Given the description of an element on the screen output the (x, y) to click on. 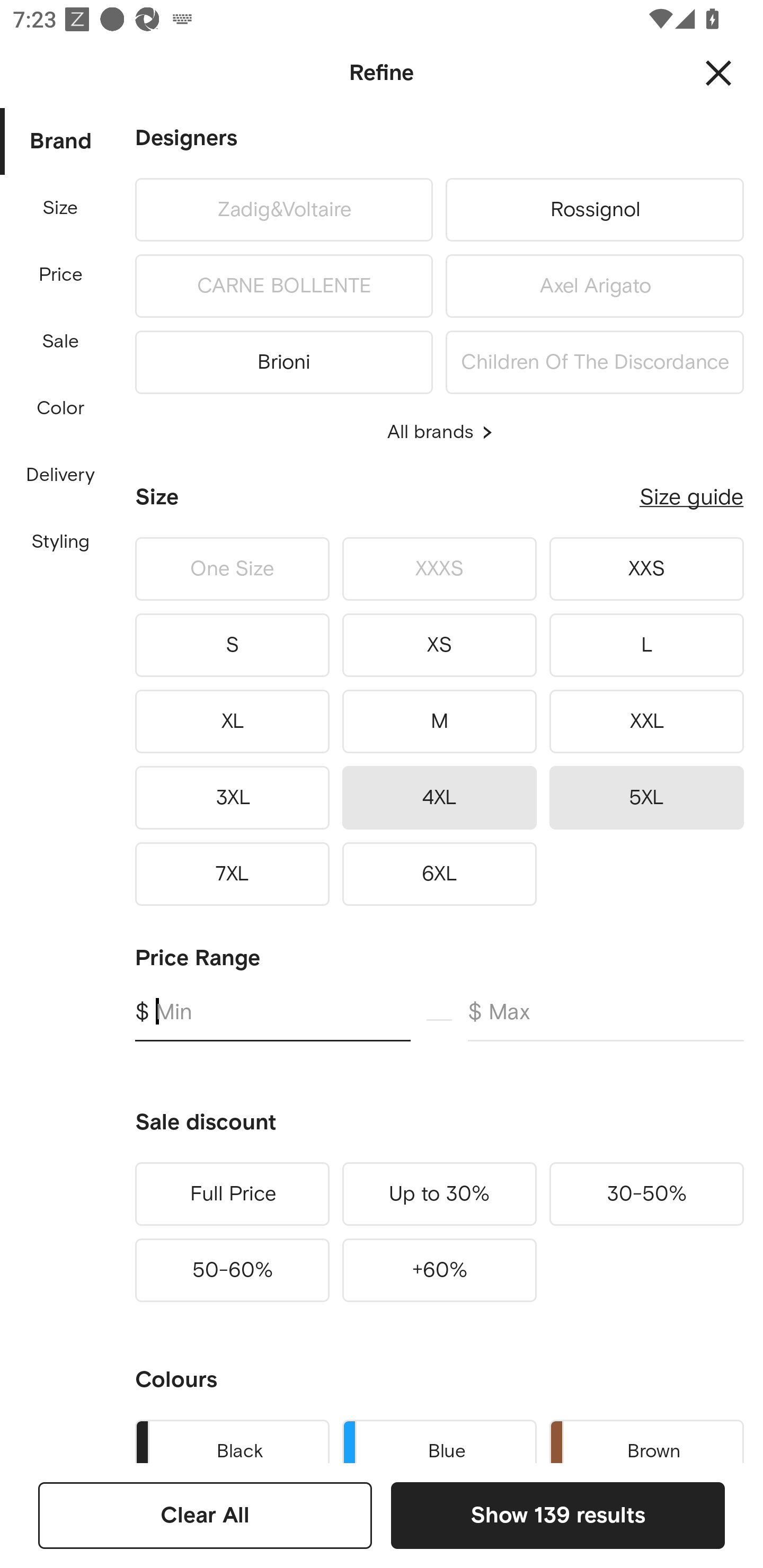
Brand (60, 141)
Size (60, 208)
Zadig&Voltaire (283, 208)
Rossignol (594, 208)
Price (60, 274)
CARNE BOLLENTE (283, 285)
Axel Arigato (594, 285)
Sale (60, 342)
Brioni (283, 358)
Children Of The Discordance (594, 358)
Color (60, 408)
All brands (439, 431)
Delivery (60, 475)
Size guide (691, 496)
Styling (60, 542)
One Size (232, 568)
XXXS (439, 568)
XXS (646, 568)
S (232, 644)
XS (439, 644)
L (646, 644)
XL (232, 720)
M (439, 720)
XXL (646, 720)
3XL (232, 796)
4XL (439, 796)
5XL (646, 796)
7XL (232, 873)
6XL (439, 873)
$ Min (272, 1019)
$ Max (605, 1019)
Full Price (232, 1193)
Up to 30% (439, 1193)
30-50% (646, 1193)
50-60% (232, 1269)
+60% (439, 1269)
Black (232, 1437)
Blue (439, 1437)
Brown (646, 1437)
Clear All (205, 1515)
Show 139 results (557, 1515)
